Given the description of an element on the screen output the (x, y) to click on. 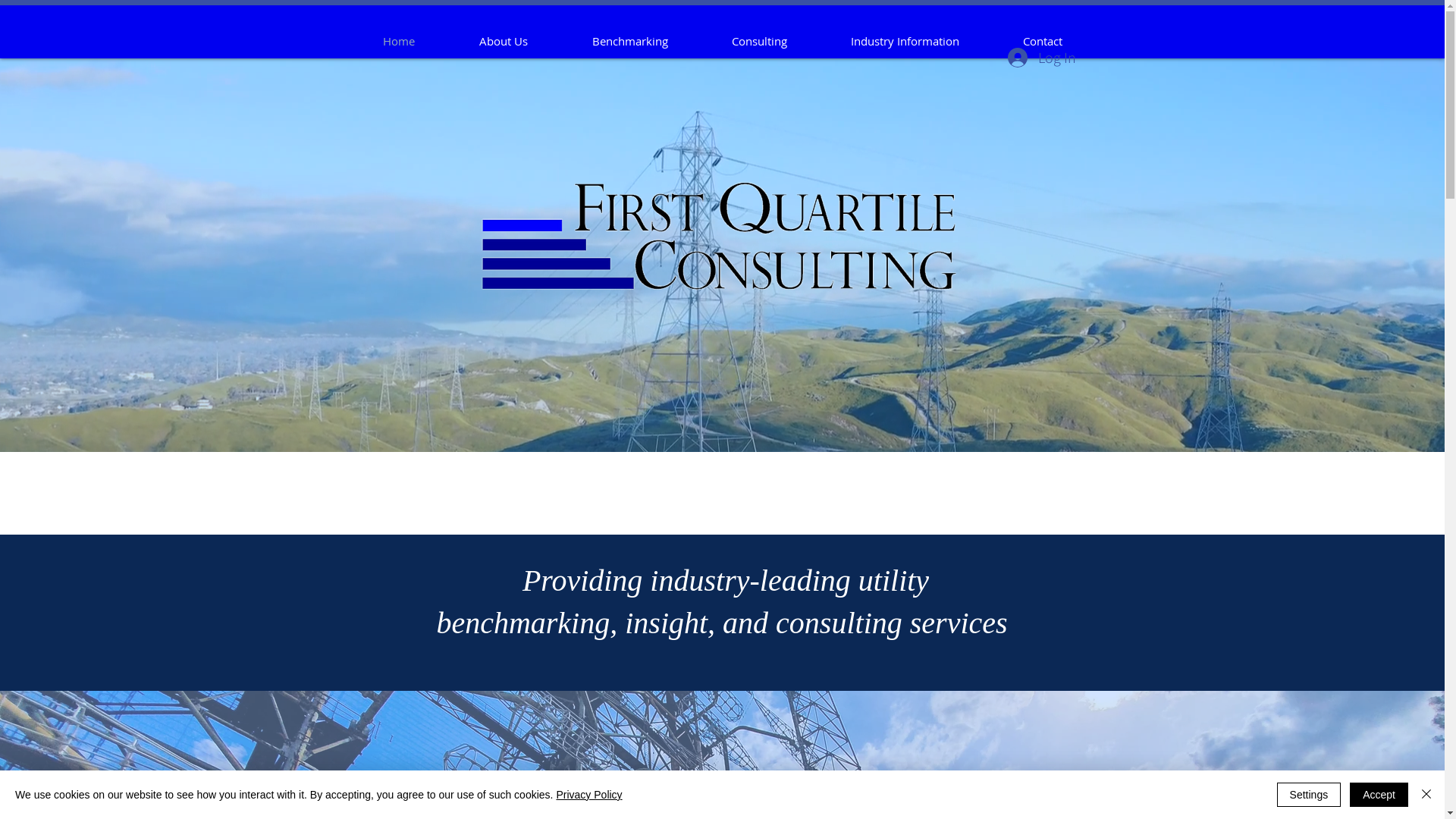
Accept Element type: text (1378, 794)
Log In Element type: text (1040, 57)
Consulting Element type: text (758, 41)
Privacy Policy Element type: text (588, 794)
Home Element type: text (398, 41)
Contact Element type: text (1041, 41)
Settings Element type: text (1309, 794)
